Given the description of an element on the screen output the (x, y) to click on. 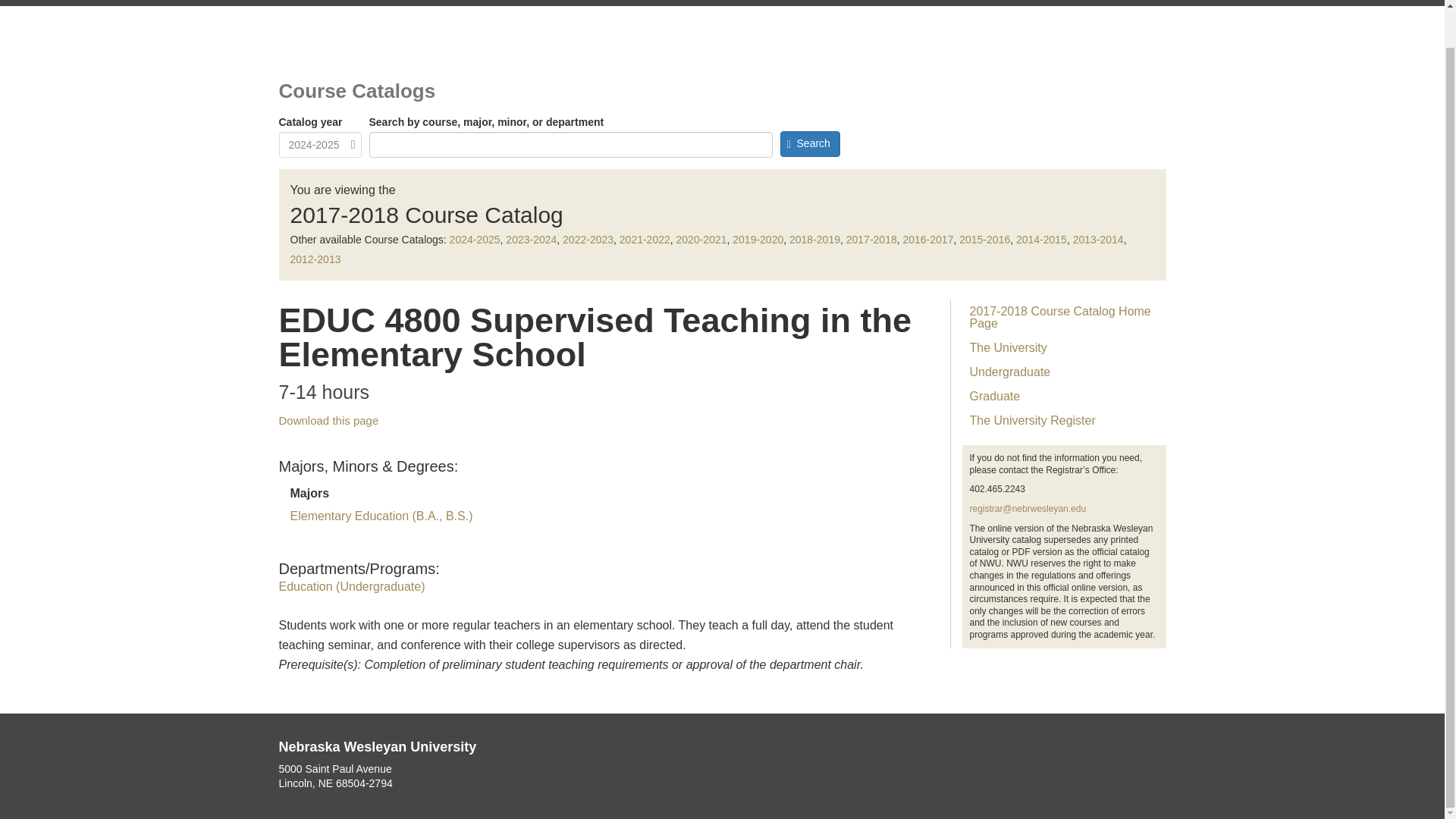
2015-2016 (984, 239)
2024-2025 (474, 239)
2021-2022 (644, 239)
View Current Catalog (488, 2)
Search (809, 144)
2022-2023 (587, 239)
Go to the NWU Main Site (352, 2)
2017-2018 (870, 239)
2014-2015 (1041, 239)
2013-2014 (1098, 239)
